Given the description of an element on the screen output the (x, y) to click on. 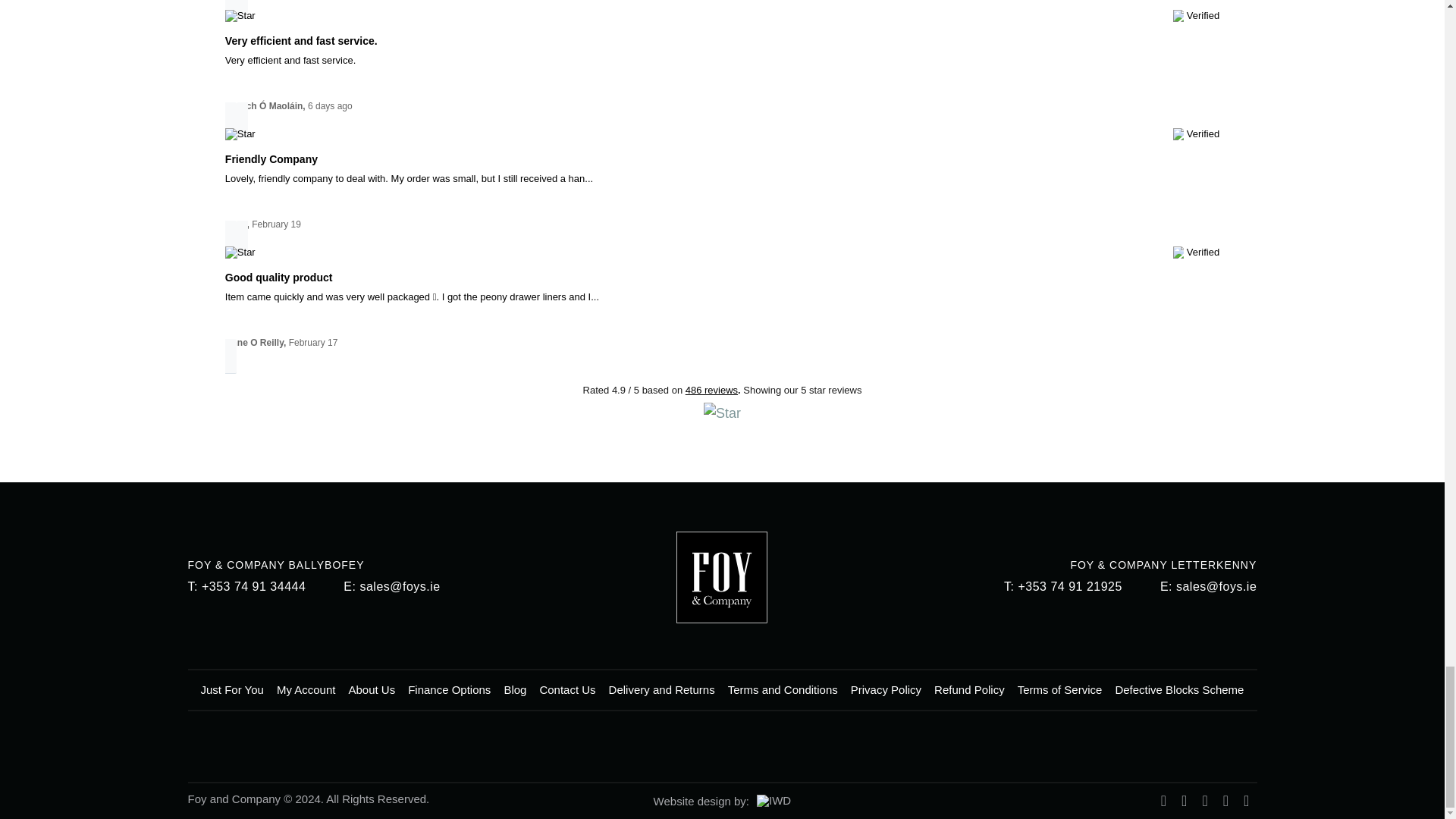
5 out of five star rating on Trustpilot (263, 16)
5 out of five star rating on Trustpilot (263, 253)
5 out of five star rating on Trustpilot (263, 134)
